Given the description of an element on the screen output the (x, y) to click on. 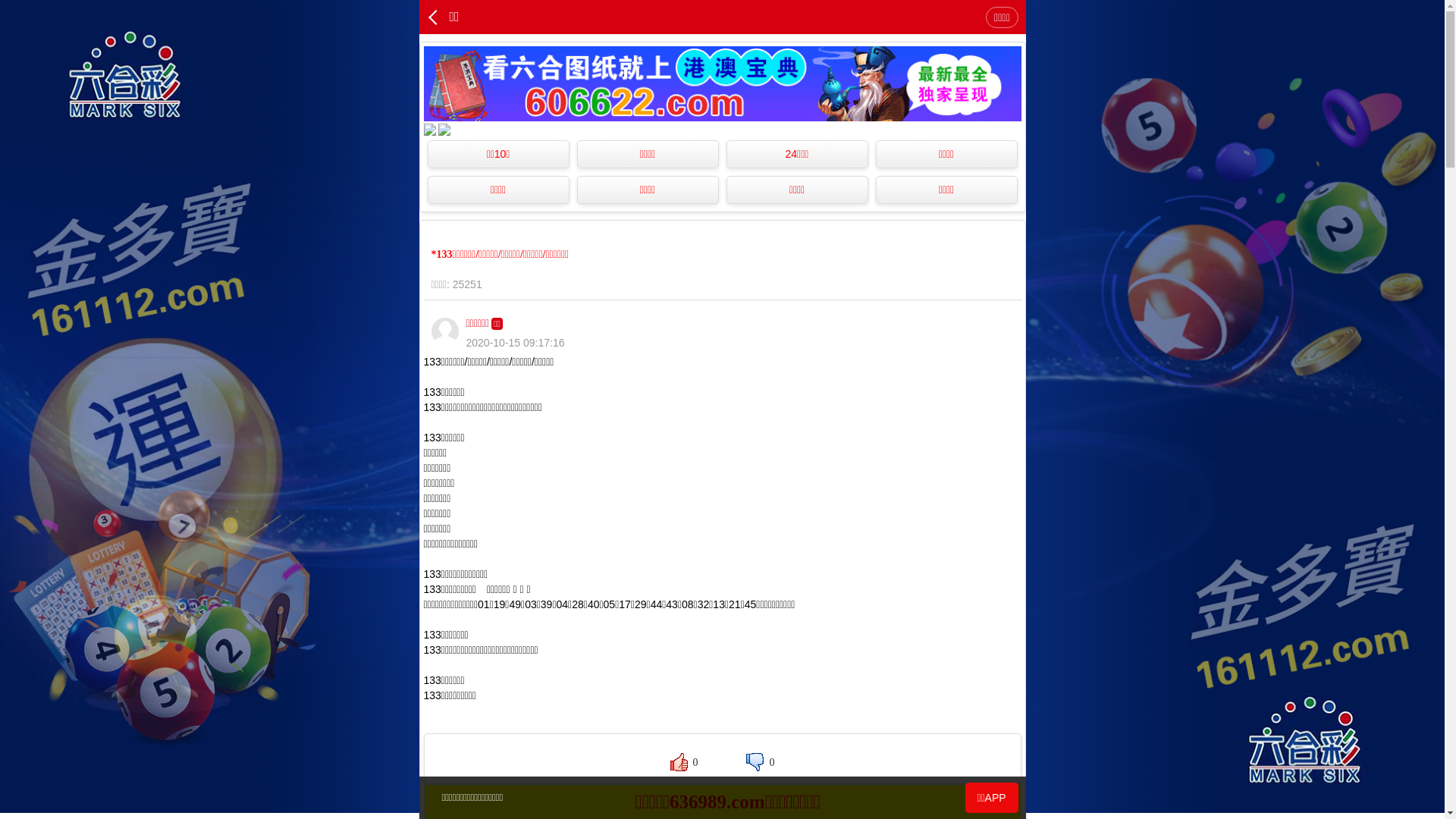
0 Element type: text (760, 762)
0 Element type: text (684, 762)
